Given the description of an element on the screen output the (x, y) to click on. 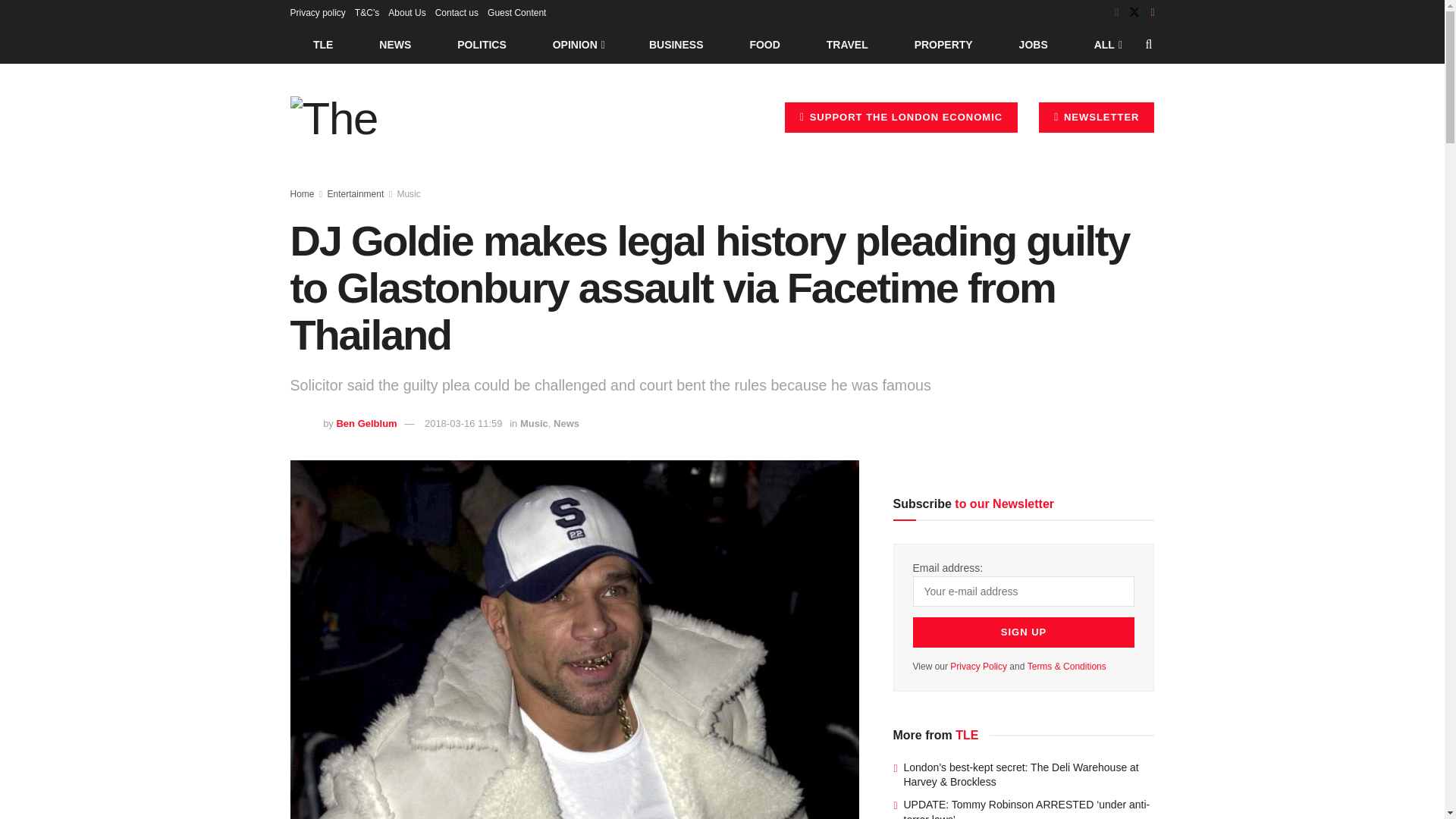
Sign up (1023, 632)
OPINION (577, 44)
PROPERTY (943, 44)
About Us (406, 12)
ALL (1106, 44)
FOOD (764, 44)
Contact us (457, 12)
Guest Content (516, 12)
Home (301, 194)
TLE (322, 44)
